Given the description of an element on the screen output the (x, y) to click on. 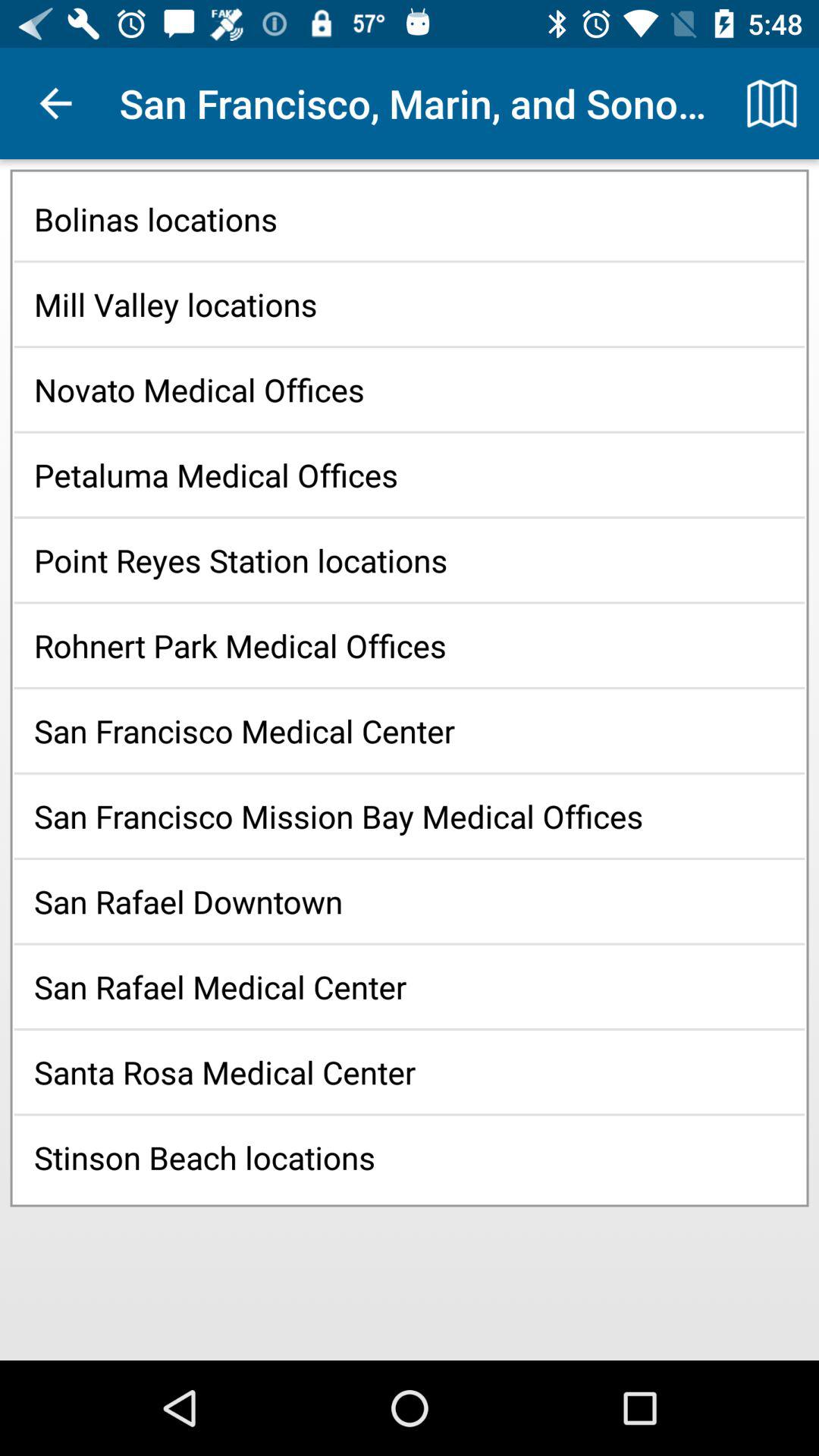
launch the item above the bolinas locations (55, 103)
